Given the description of an element on the screen output the (x, y) to click on. 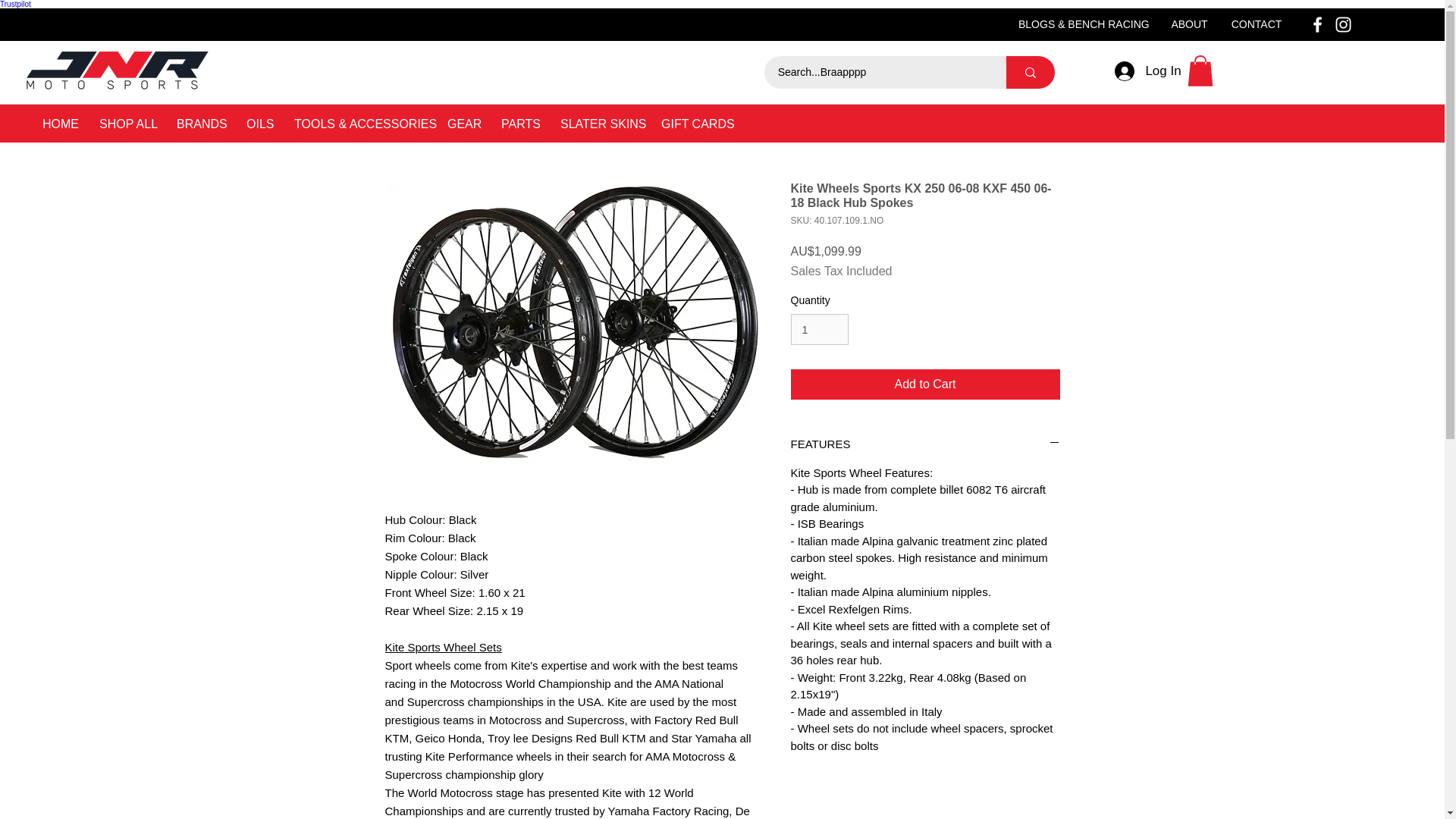
1 (818, 328)
Trustpilot (15, 4)
Log In (1147, 70)
SHOP ALL (126, 123)
HOME (58, 123)
CONTACT (1257, 24)
ABOUT (1189, 24)
jnr moto sports logo (117, 69)
